Given the description of an element on the screen output the (x, y) to click on. 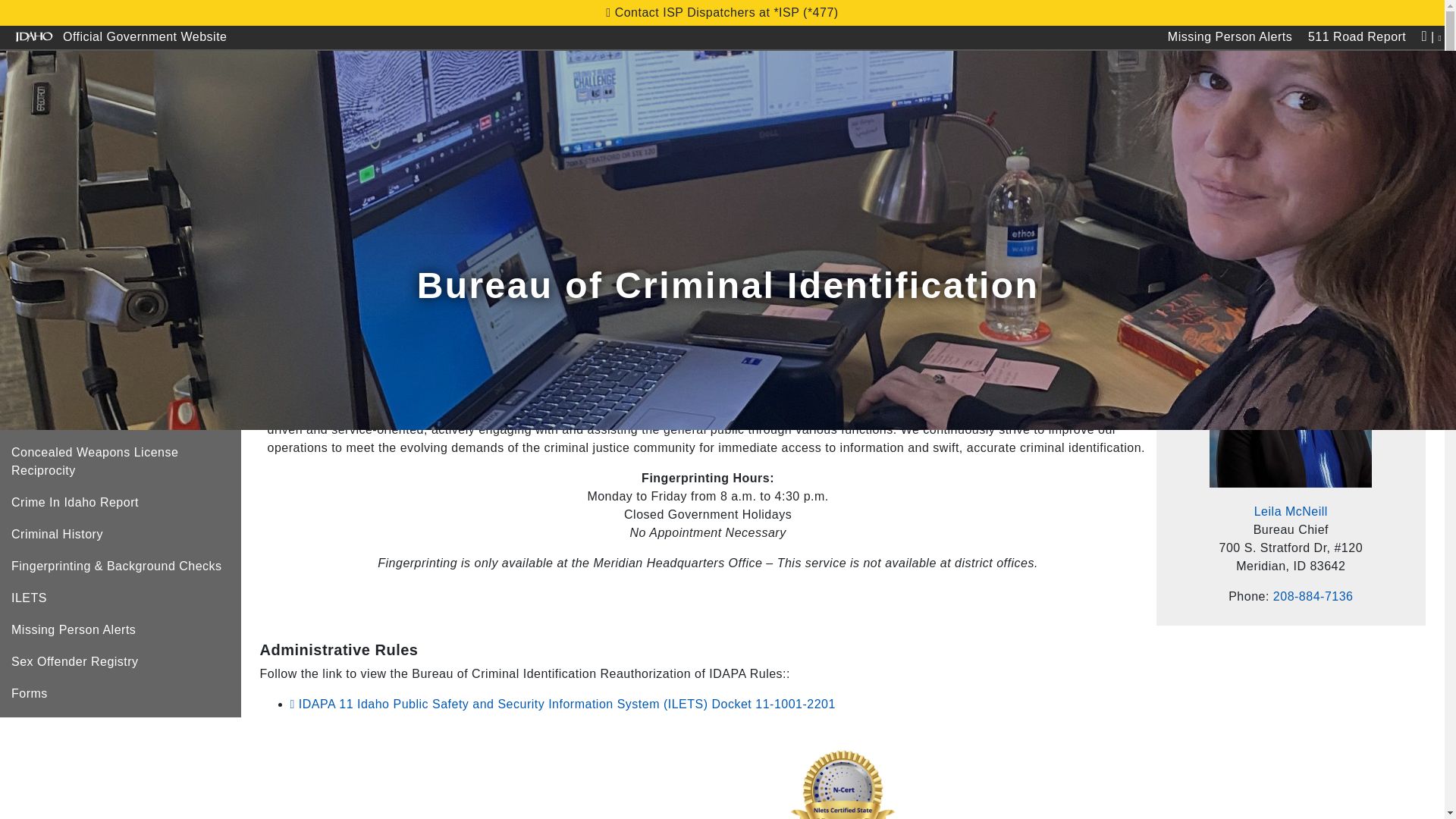
Missing Person Alerts (1229, 36)
home (29, 180)
About Us (297, 119)
Patrol Districts (395, 119)
511 Road Report (1356, 36)
Divisions (493, 119)
